Given the description of an element on the screen output the (x, y) to click on. 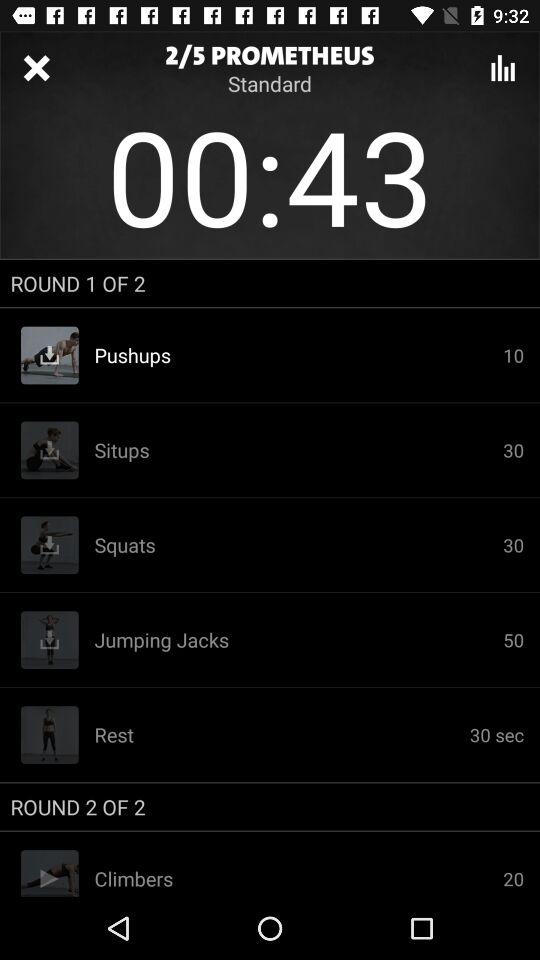
turn off the item to the left of 10 item (298, 450)
